Given the description of an element on the screen output the (x, y) to click on. 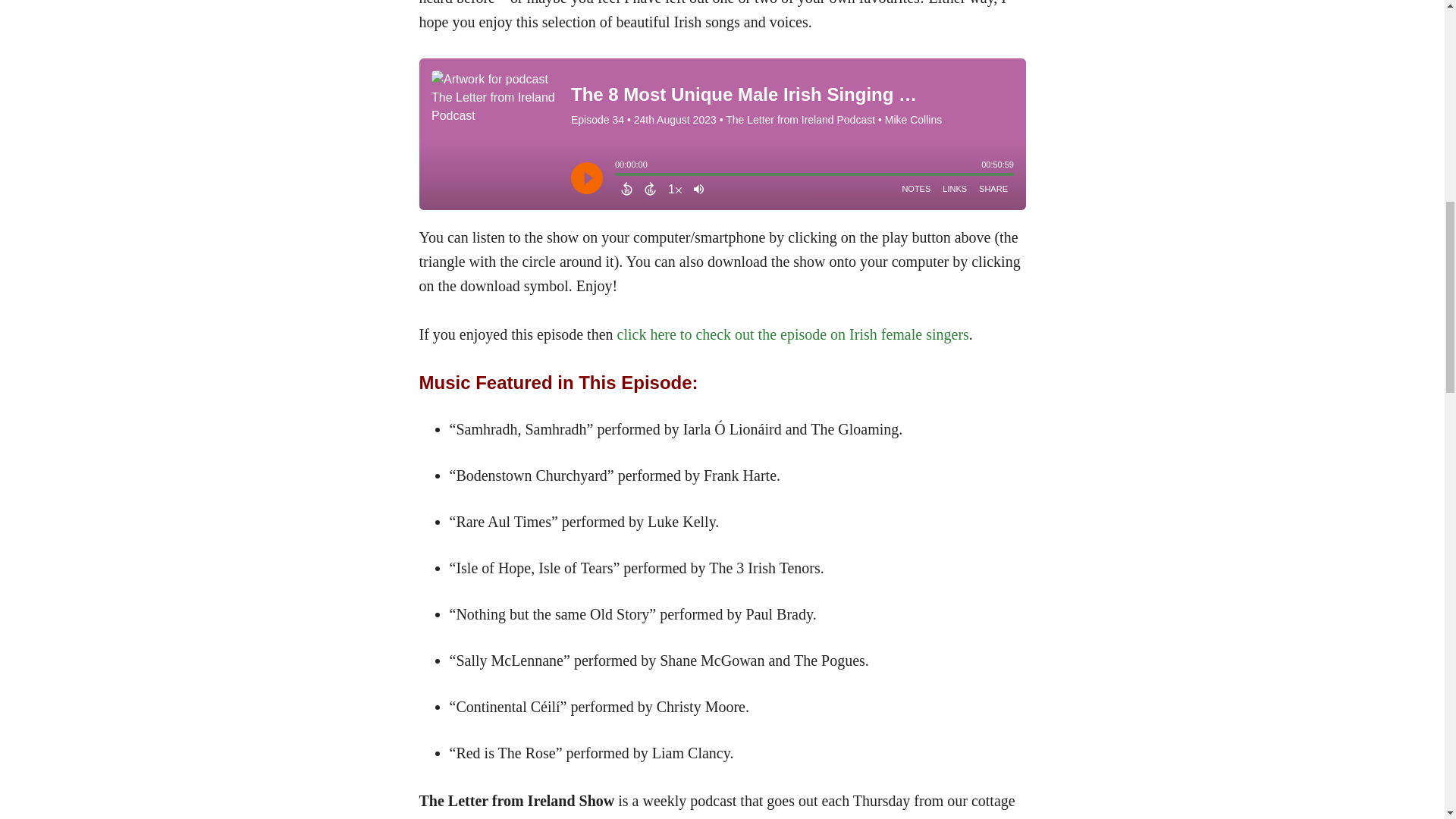
click here to check out the episode on Irish female singers (793, 334)
